Given the description of an element on the screen output the (x, y) to click on. 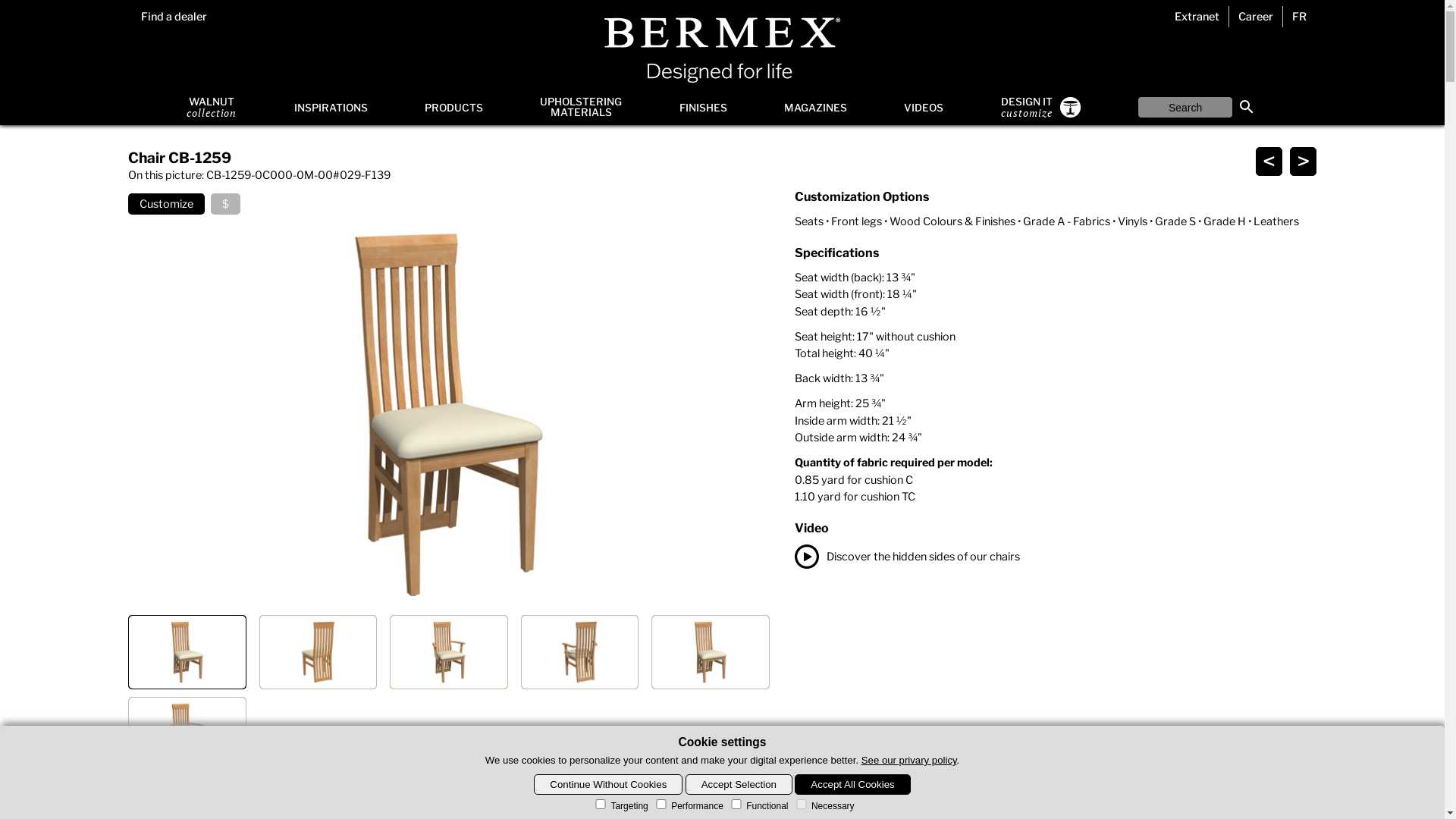
PRODUCTS Element type: text (453, 107)
Career Element type: text (1255, 16)
Grade S Element type: text (1174, 221)
Leathers Element type: text (1276, 221)
Accept Selection Element type: text (738, 784)
< Element type: text (1268, 161)
INSPIRATIONS Element type: text (330, 107)
Extranet Element type: text (1196, 16)
See our privary policy Element type: text (909, 759)
VIDEOS Element type: text (923, 107)
Customize Element type: text (166, 203)
  Element type: text (1246, 106)
Continue Without Cookies Element type: text (607, 784)
Accept All Cookies Element type: text (852, 784)
WALNUT
collection Element type: text (211, 107)
$ Element type: text (225, 203)
MAGAZINES Element type: text (815, 107)
Front legs Element type: text (856, 221)
Vinyls Element type: text (1132, 221)
Discover the hidden sides of our chairs Element type: text (1054, 556)
Find a dealer Element type: text (172, 16)
Grade H Element type: text (1224, 221)
FR Element type: text (1299, 16)
DESIGN IT
customize Element type: text (1040, 108)
> Element type: text (1302, 161)
Seats Element type: text (808, 221)
UPHOLSTERING
MATERIALS Element type: text (580, 107)
FINISHES Element type: text (703, 107)
Grade A - Fabrics Element type: text (1066, 221)
Wood Colours & Finishes Element type: text (952, 221)
